Given the description of an element on the screen output the (x, y) to click on. 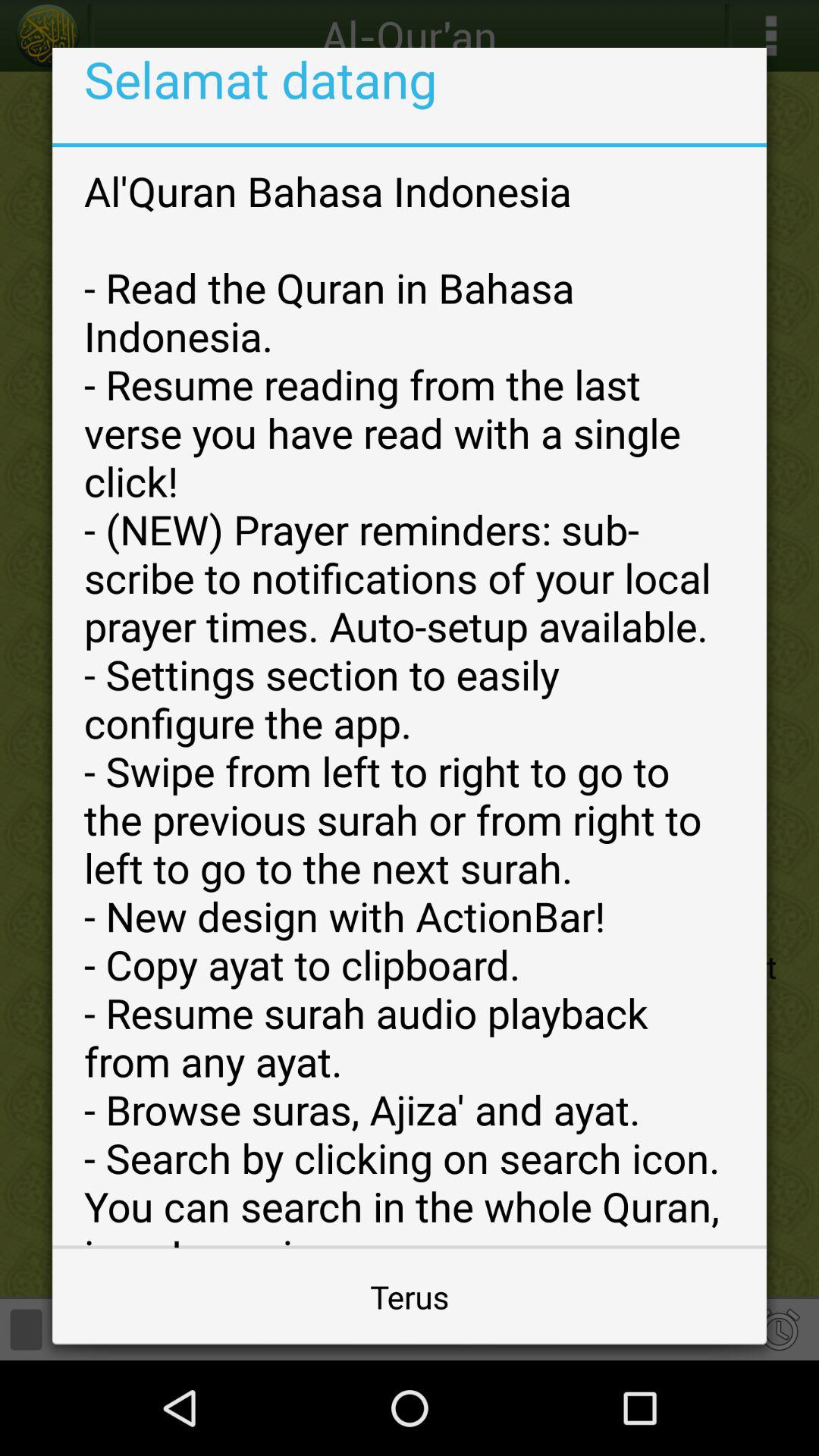
launch terus at the bottom (409, 1296)
